Given the description of an element on the screen output the (x, y) to click on. 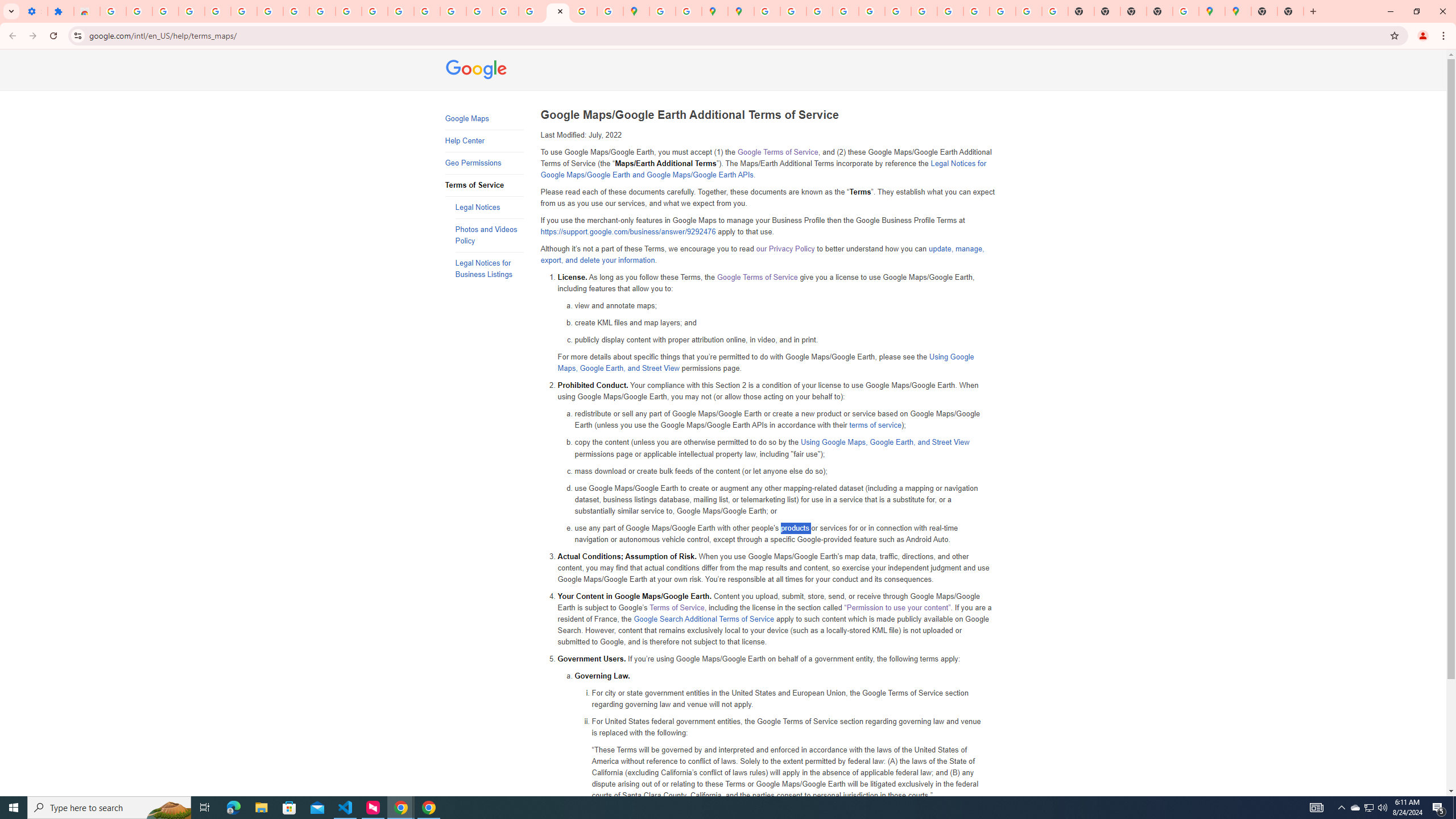
https://support.google.com/business/answer/9292476 (628, 231)
Settings - On startup (34, 11)
Google Maps (484, 118)
Browse Chrome as a guest - Computer - Google Chrome Help (976, 11)
